Given the description of an element on the screen output the (x, y) to click on. 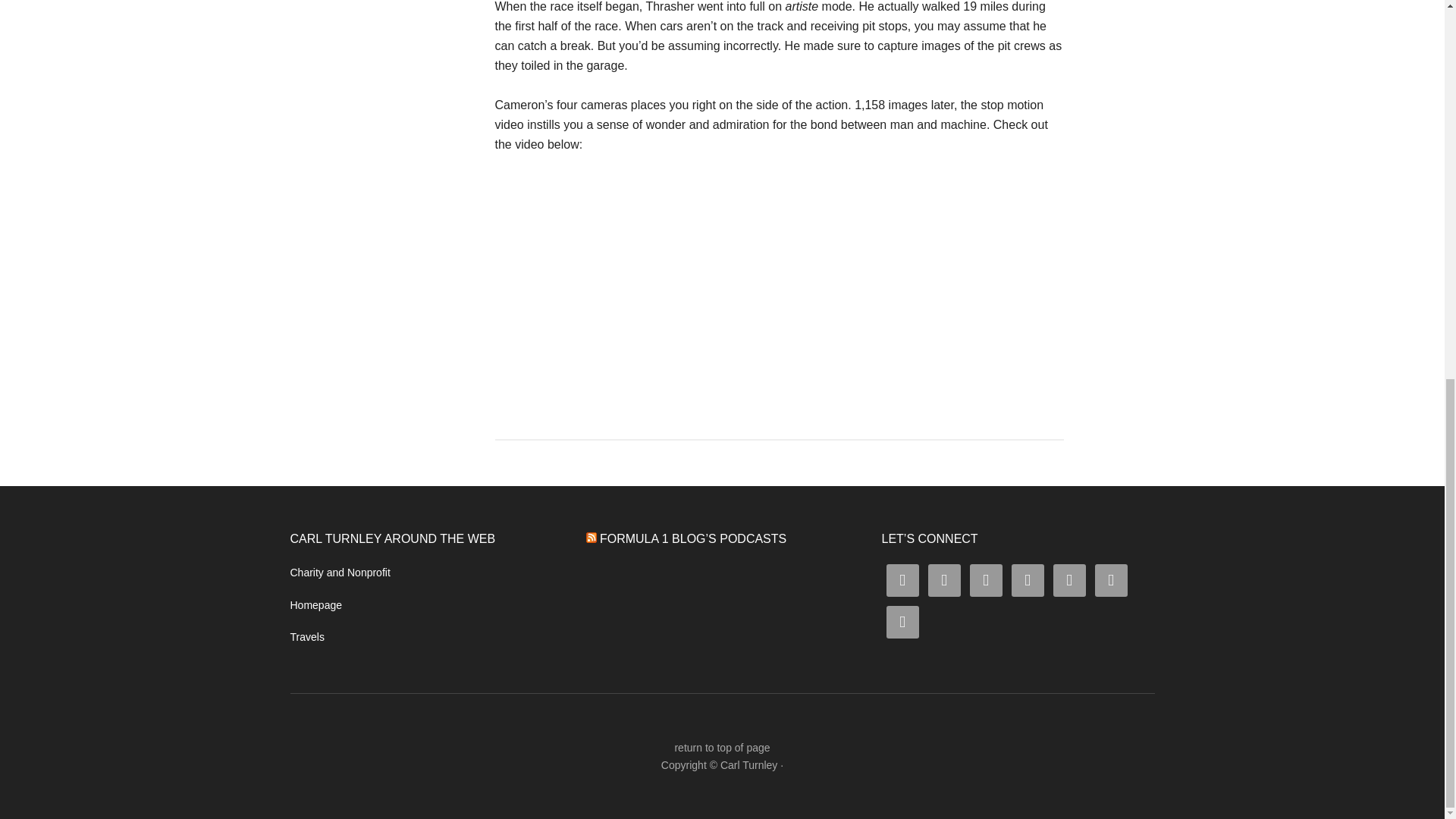
return to top of page (722, 747)
Carl Turnley (748, 765)
Charity and Nonprofit (339, 572)
Carl Turnley (748, 765)
Carls Resume and Professional History (315, 604)
Homepage (315, 604)
Nonprofit Work (339, 572)
Travels (306, 636)
